Given the description of an element on the screen output the (x, y) to click on. 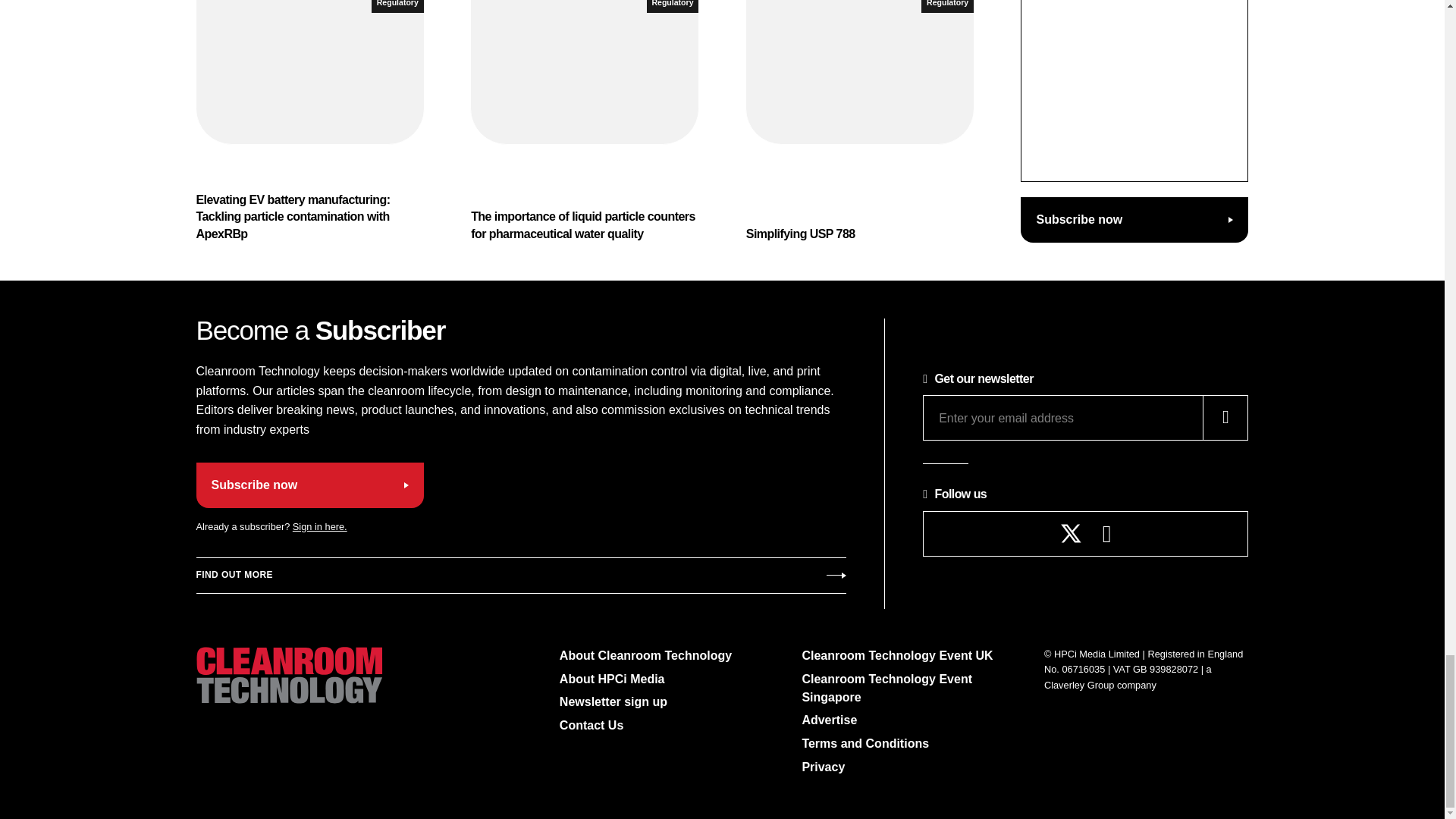
Follow Cleanroom Technology on X (1070, 533)
Subscribe (520, 575)
